Given the description of an element on the screen output the (x, y) to click on. 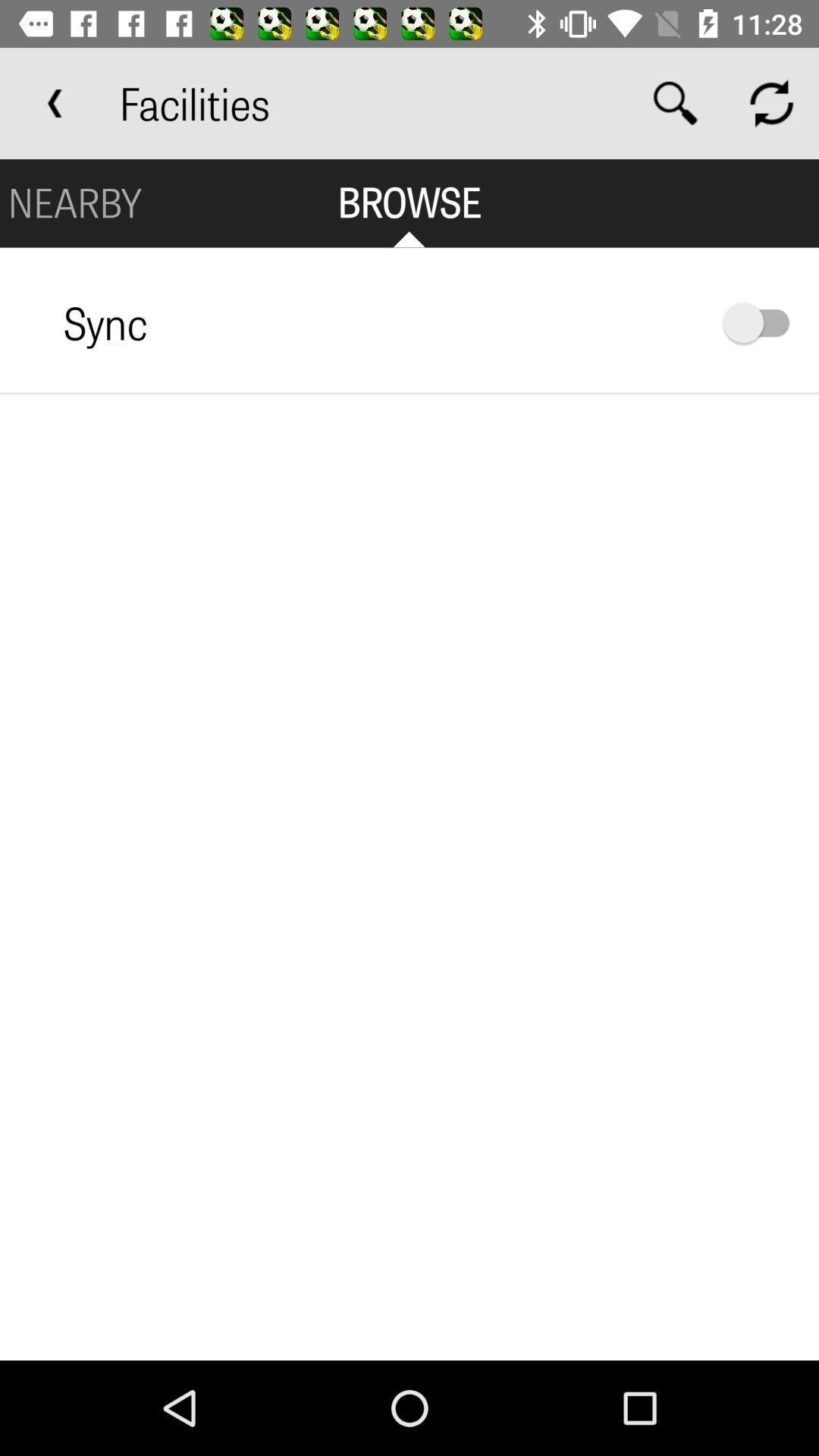
select the app to the left of the facilities (55, 103)
